Given the description of an element on the screen output the (x, y) to click on. 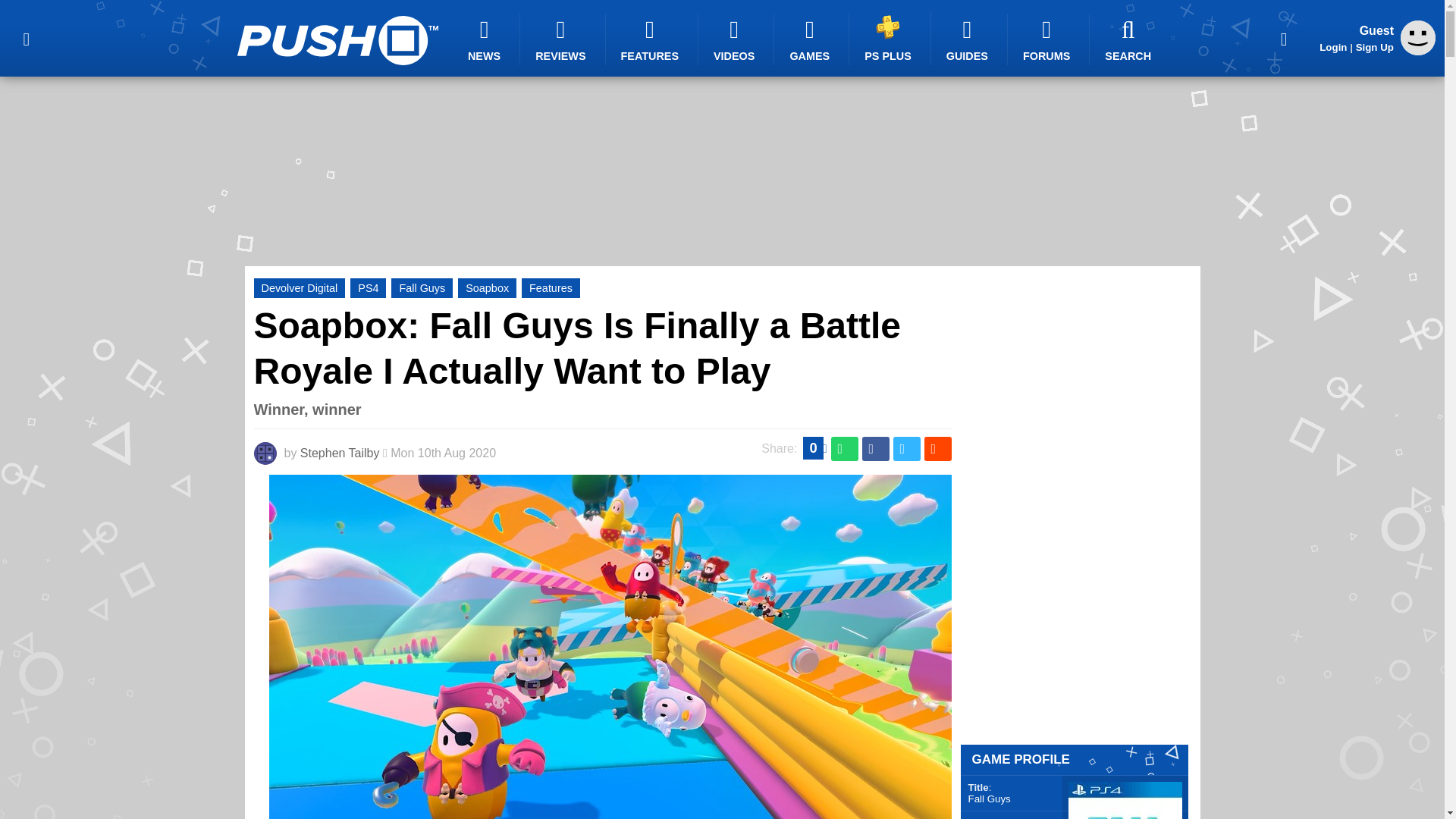
Share this on Twitter (906, 448)
VIDEOS (736, 39)
PS4 (367, 288)
Soapbox (487, 288)
Push Square (336, 40)
GAMES (811, 39)
Login (1332, 47)
SEARCH (1129, 39)
Share This Page (1283, 37)
Share this on Facebook (874, 448)
Guest (1417, 51)
REVIEWS (562, 39)
Stephen Tailby (339, 452)
PS PLUS (889, 38)
Guest (1417, 37)
